Given the description of an element on the screen output the (x, y) to click on. 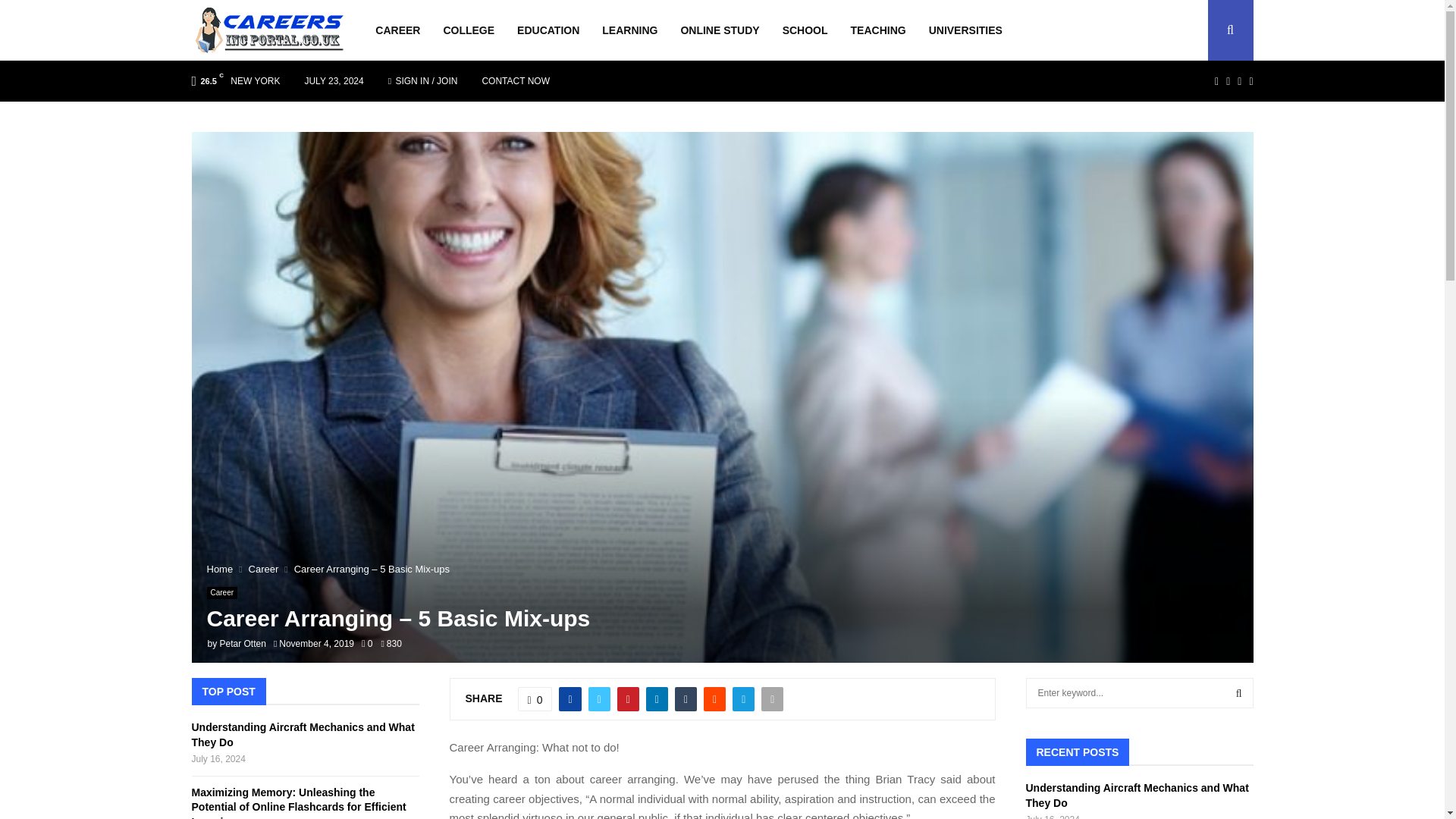
Home (219, 568)
Like (535, 699)
0 (366, 643)
Login to your account (722, 328)
Petar Otten (242, 643)
TEACHING (877, 30)
ONLINE STUDY (718, 30)
CONTACT NOW (515, 80)
Sign up new account (722, 531)
UNIVERSITIES (965, 30)
LEARNING (630, 30)
Career (263, 568)
0 (535, 699)
Career (221, 592)
EDUCATION (547, 30)
